Given the description of an element on the screen output the (x, y) to click on. 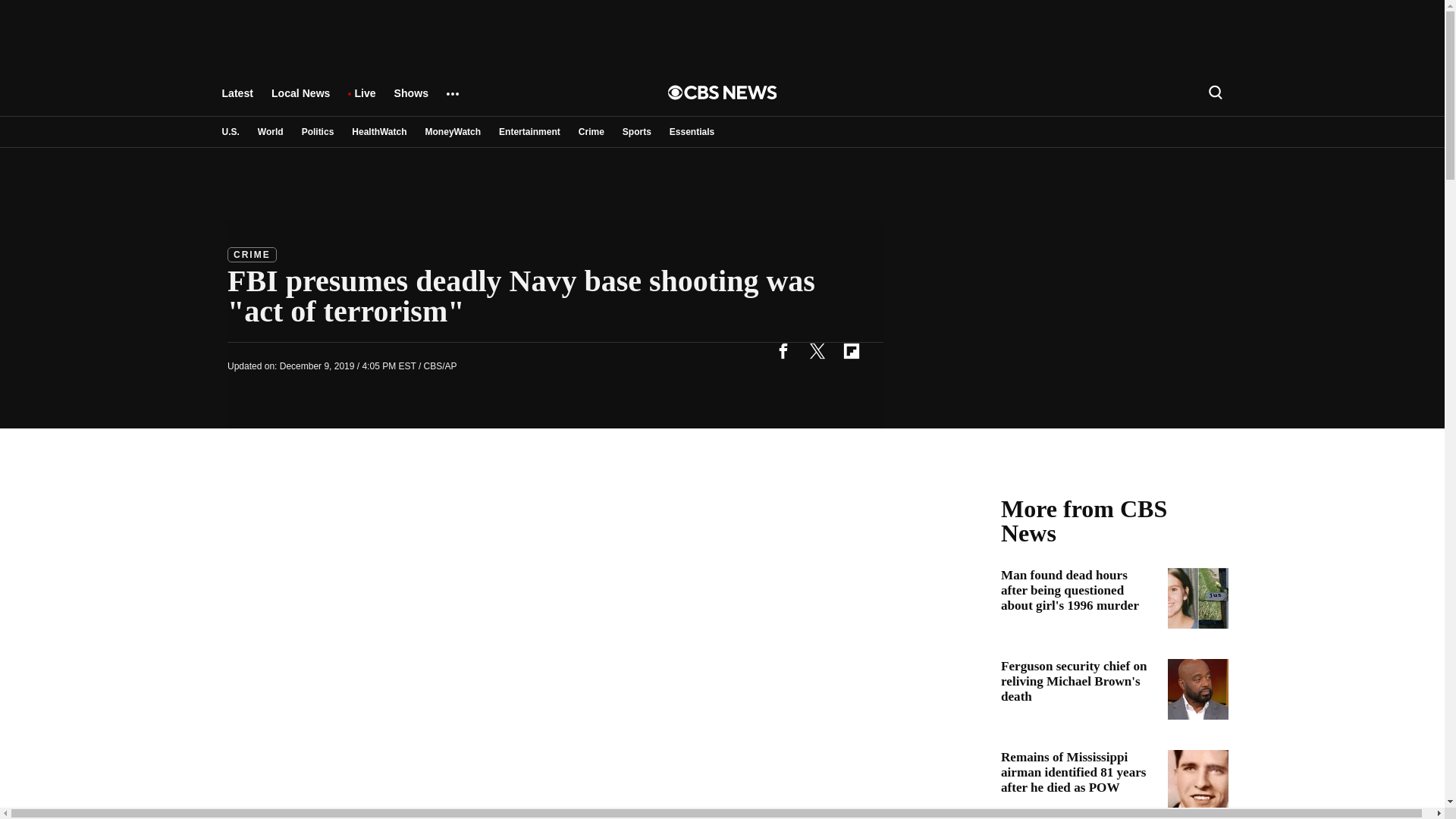
flipboard (850, 350)
facebook (782, 350)
Local News (300, 100)
twitter (816, 350)
Latest (236, 100)
